Given the description of an element on the screen output the (x, y) to click on. 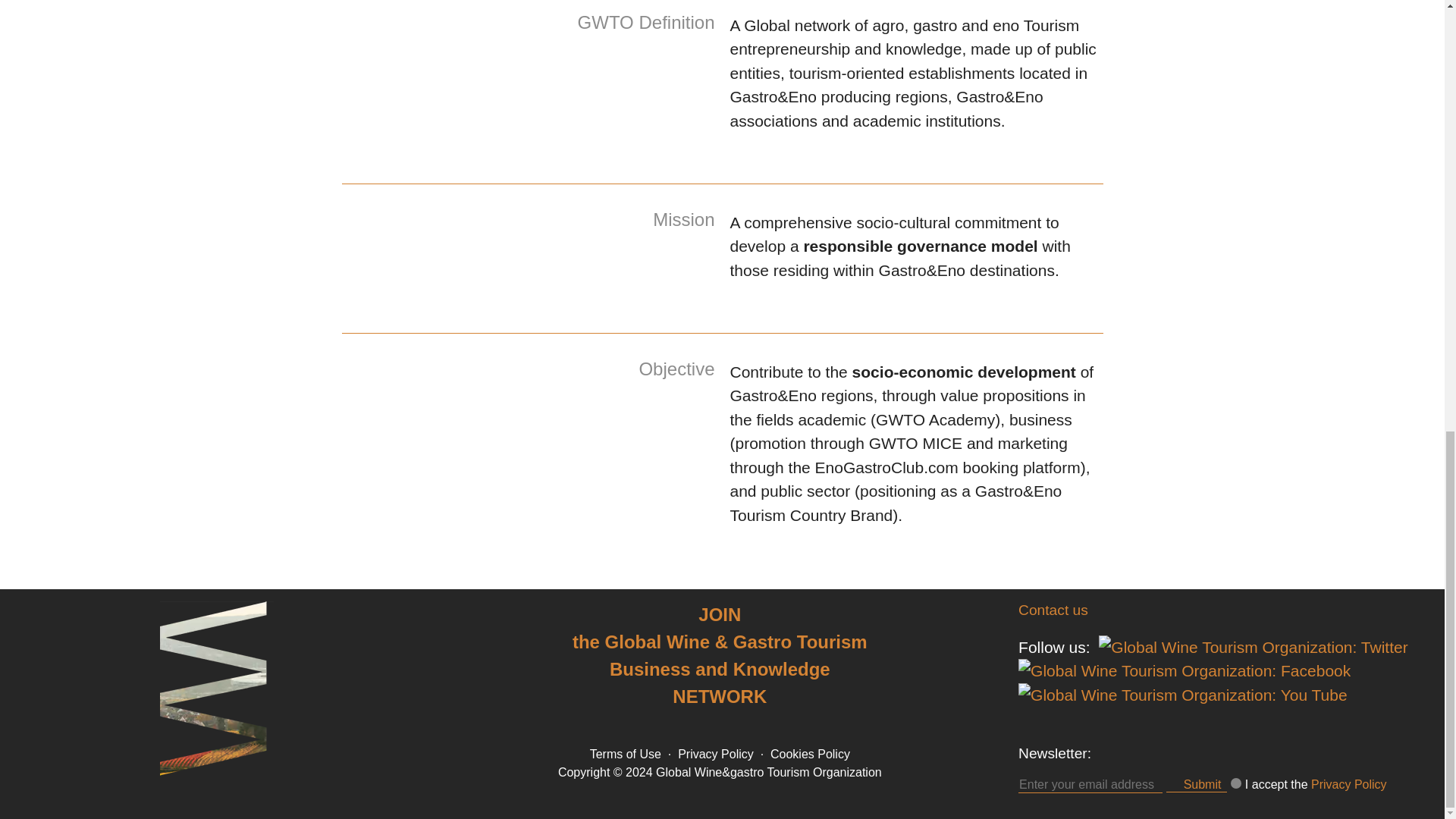
Scroll back to top (1406, 600)
1 (1235, 783)
Submit (1196, 784)
Privacy Policy (716, 753)
Cookies Policy (810, 753)
Terms of Use (625, 753)
